Given the description of an element on the screen output the (x, y) to click on. 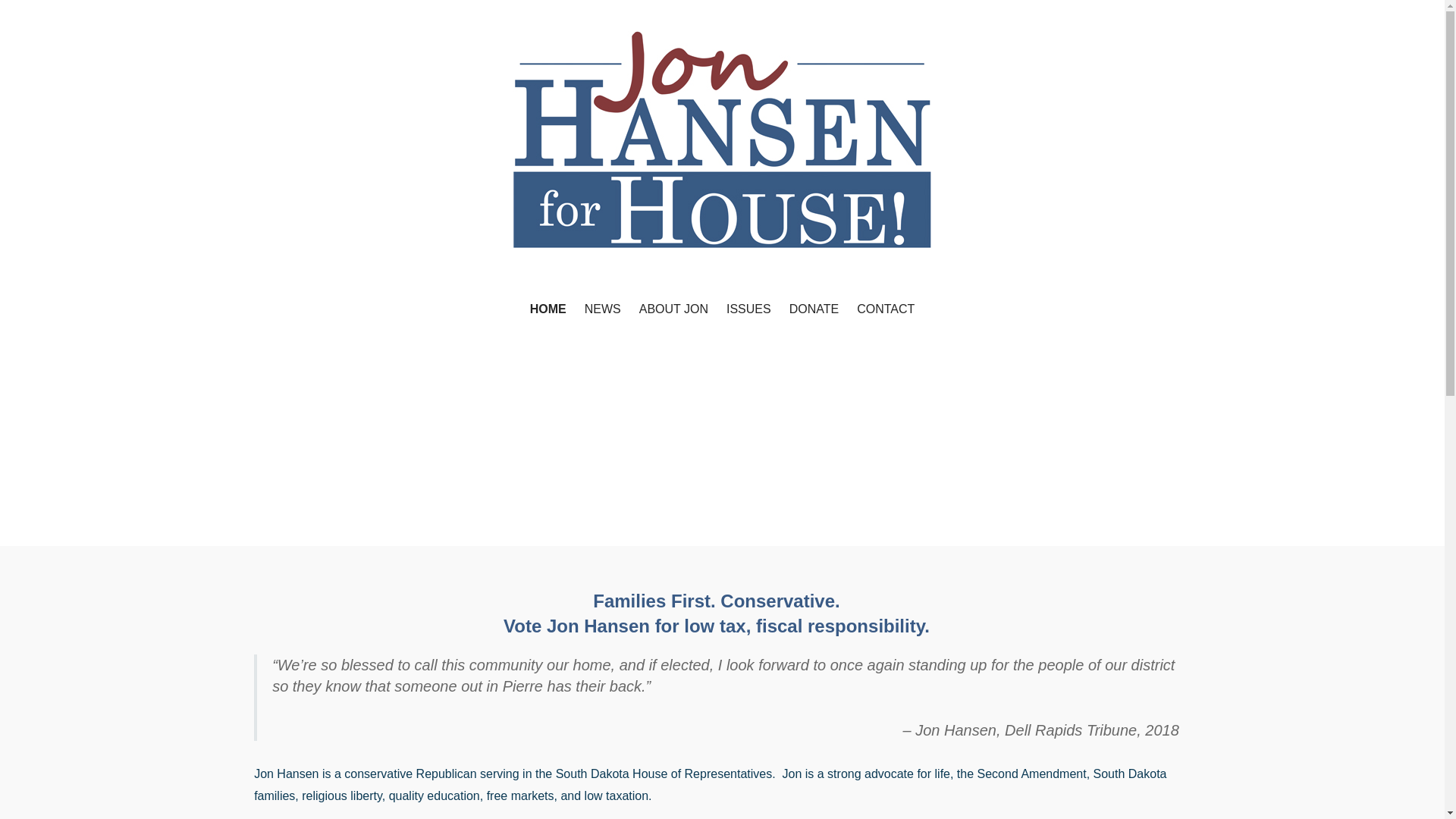
HOME (548, 309)
Jon Hansen for House! (454, 276)
CONTACT (885, 309)
NEWS (602, 309)
ISSUES (748, 309)
ABOUT JON (673, 309)
DONATE (813, 309)
